Given the description of an element on the screen output the (x, y) to click on. 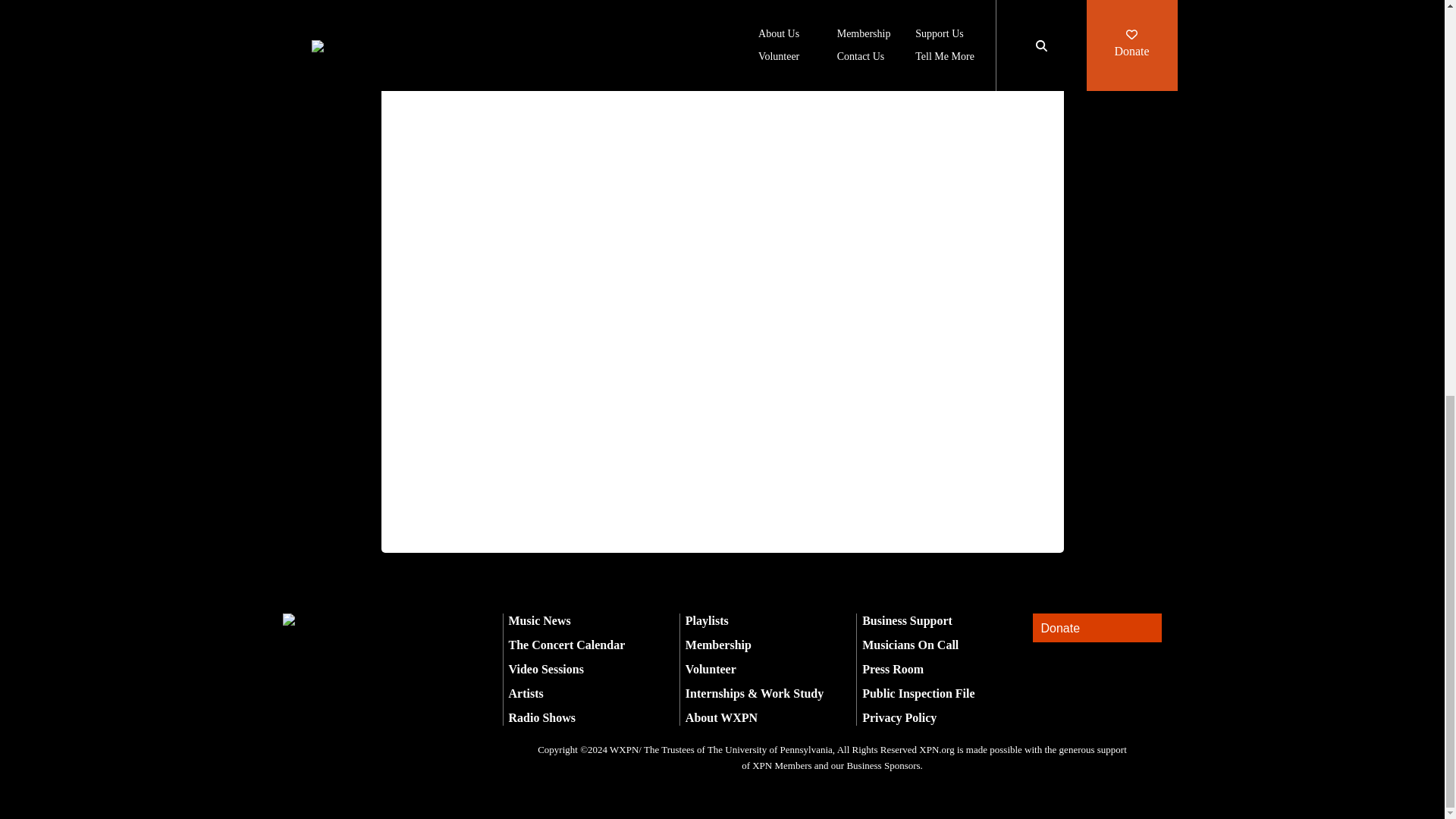
Video Sessions (545, 668)
Artists (525, 693)
Volunteer (710, 668)
Public Inspection File (917, 693)
Playlists (707, 620)
Musicians On Call (909, 644)
Music News (539, 620)
Radio Shows (541, 717)
Business Support (906, 620)
The Concert Calendar (566, 644)
Privacy Policy (898, 717)
Press Room (892, 668)
About WXPN (721, 717)
Membership (718, 644)
Donate (1096, 627)
